Given the description of an element on the screen output the (x, y) to click on. 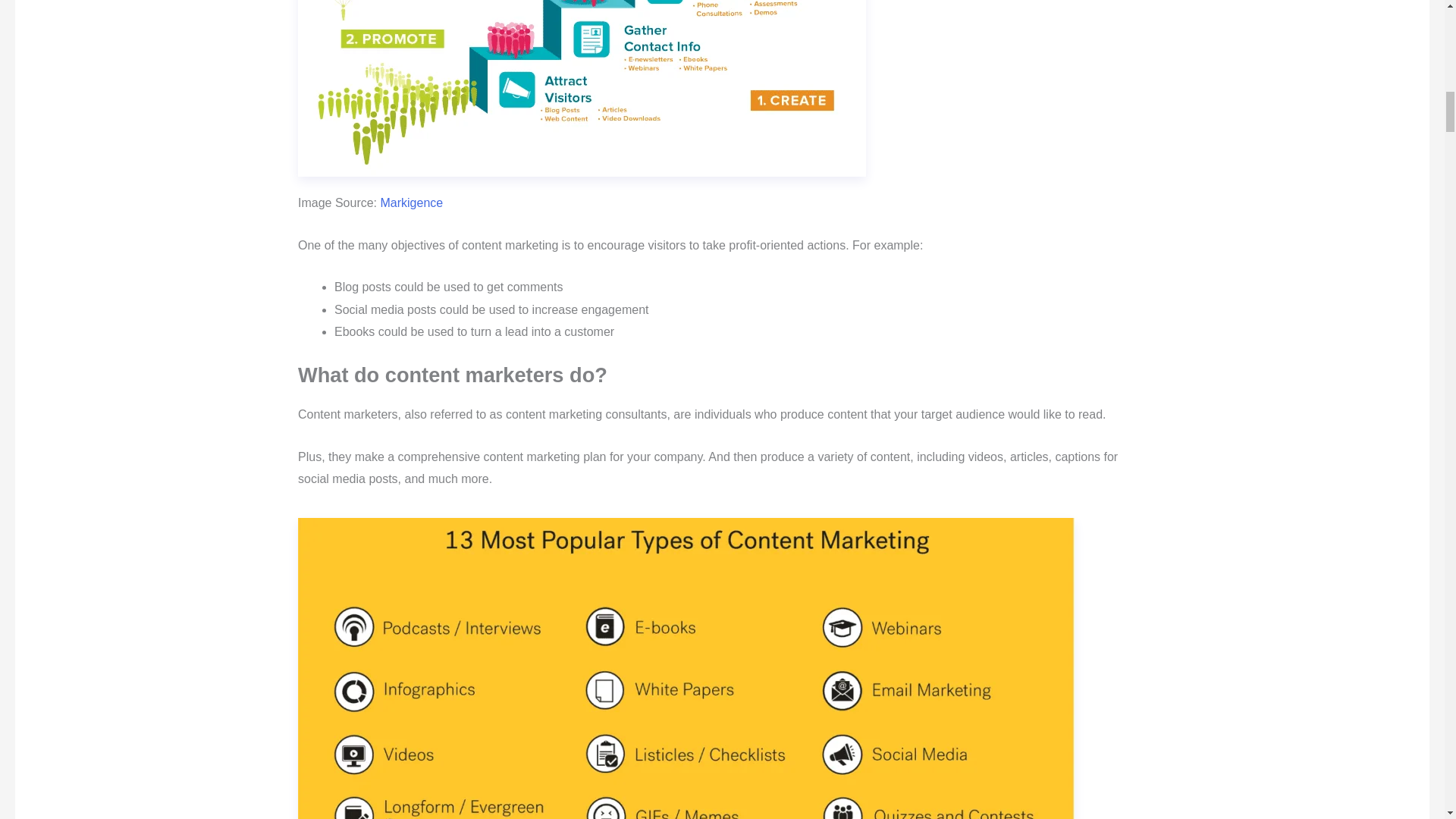
Content-Marketing-Model (582, 88)
